Given the description of an element on the screen output the (x, y) to click on. 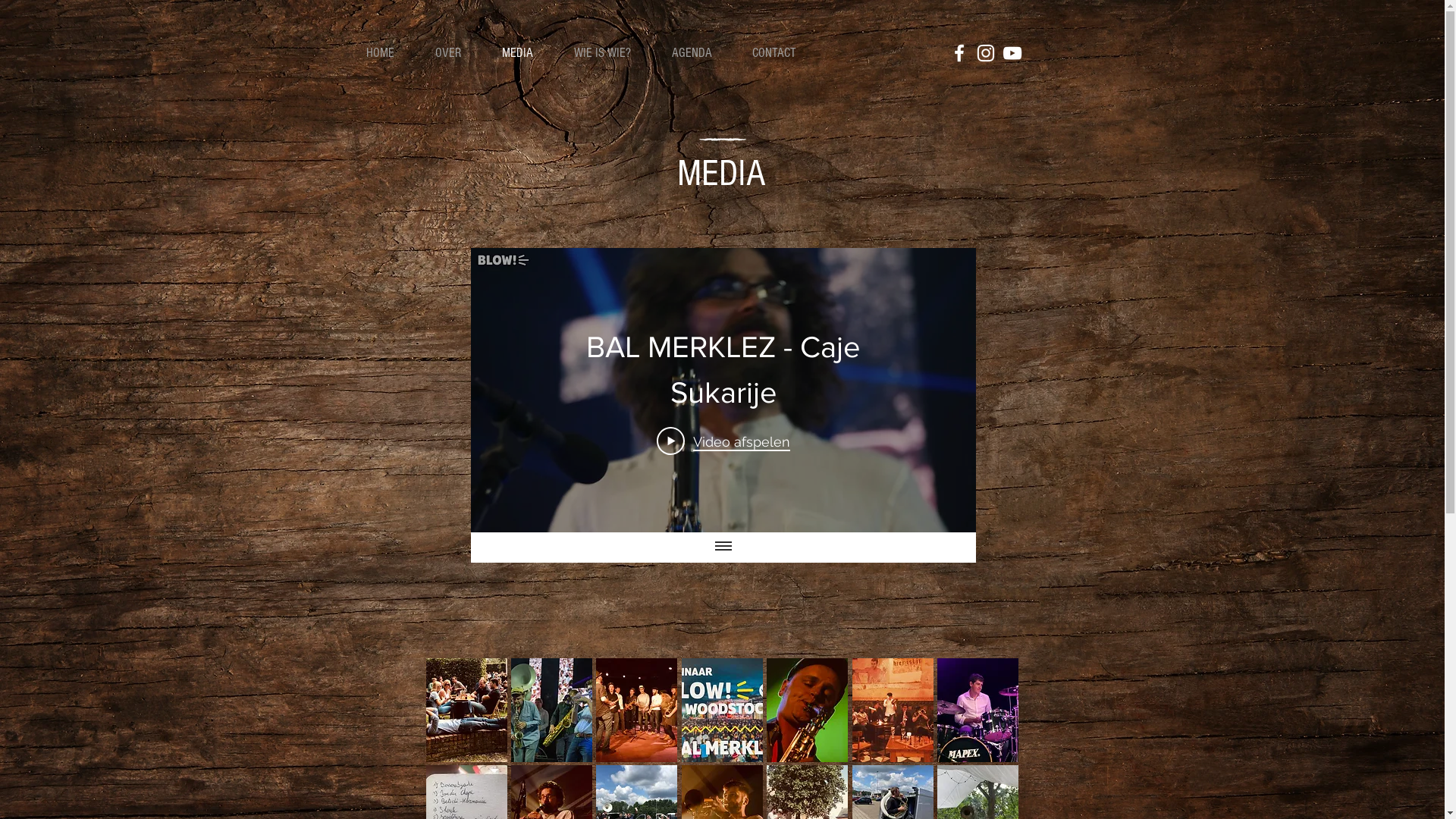
HOME Element type: text (388, 52)
OVER Element type: text (456, 52)
AGENDA Element type: text (699, 52)
CONTACT Element type: text (782, 52)
WIE IS WIE? Element type: text (611, 52)
MEDIA Element type: text (525, 52)
